Given the description of an element on the screen output the (x, y) to click on. 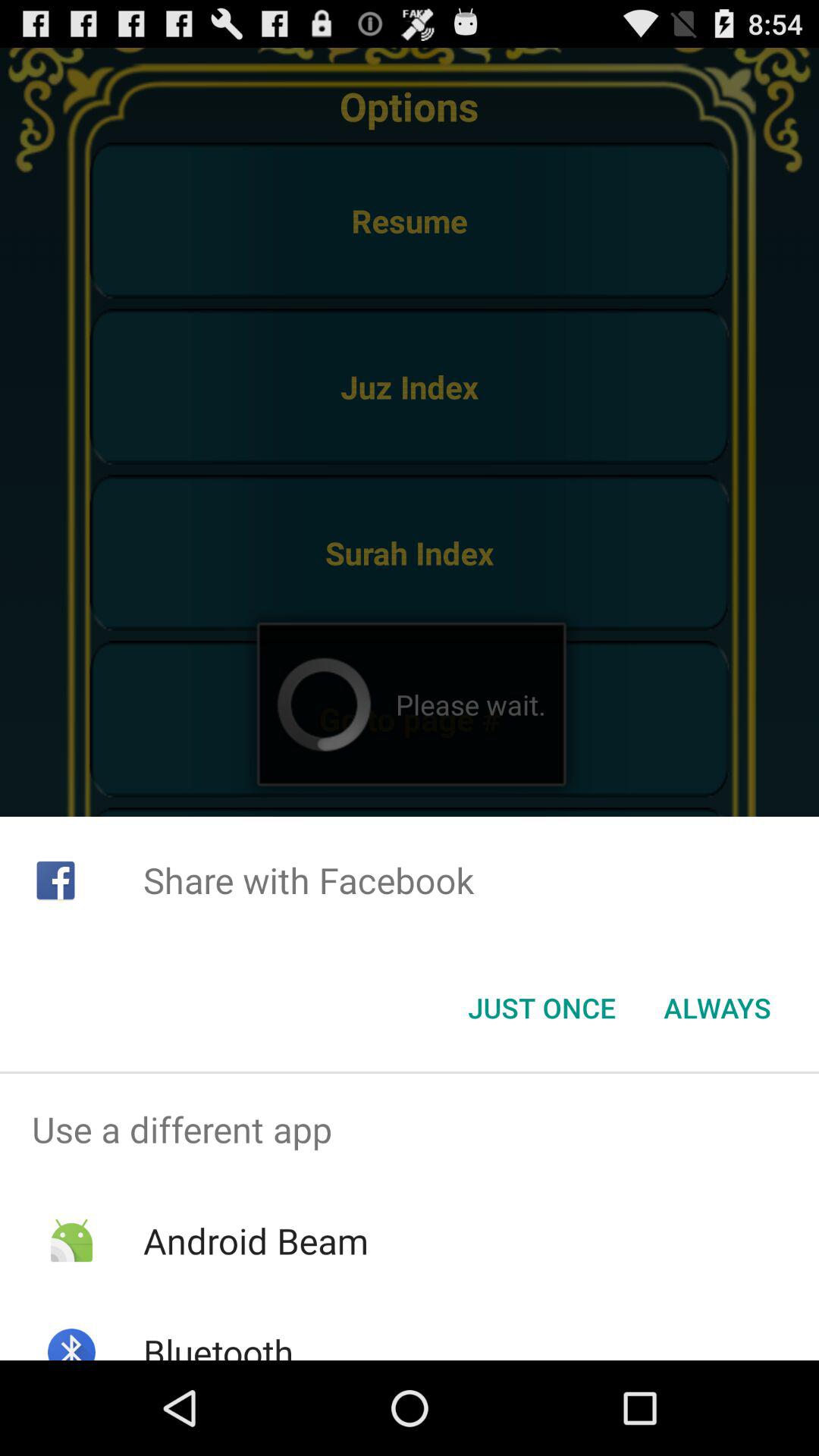
press the app below android beam item (218, 1344)
